Given the description of an element on the screen output the (x, y) to click on. 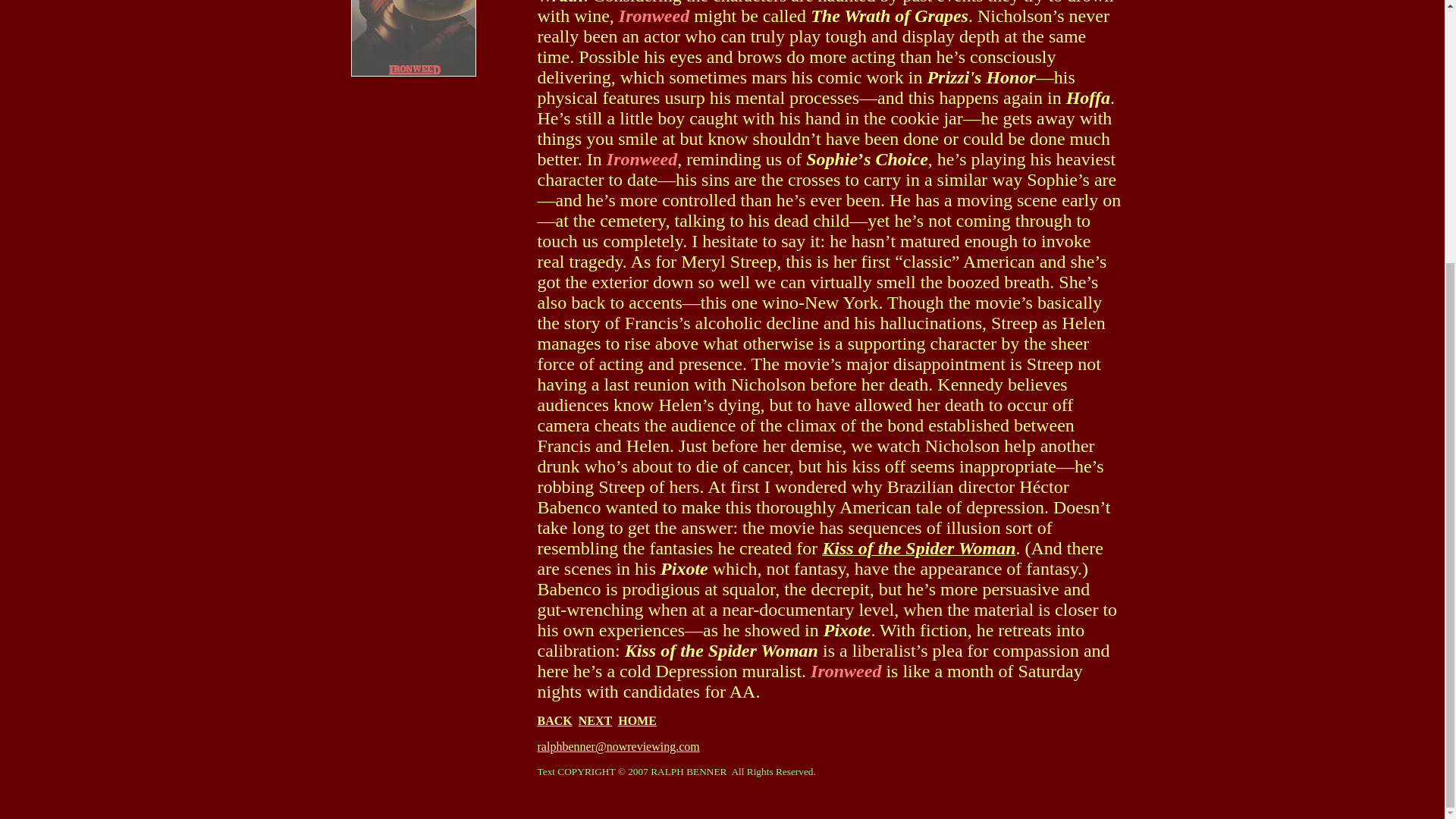
Pixote (684, 570)
BACK (554, 720)
HOME (636, 720)
Kiss of the Spider Woman (918, 549)
NEXT (594, 720)
